Given the description of an element on the screen output the (x, y) to click on. 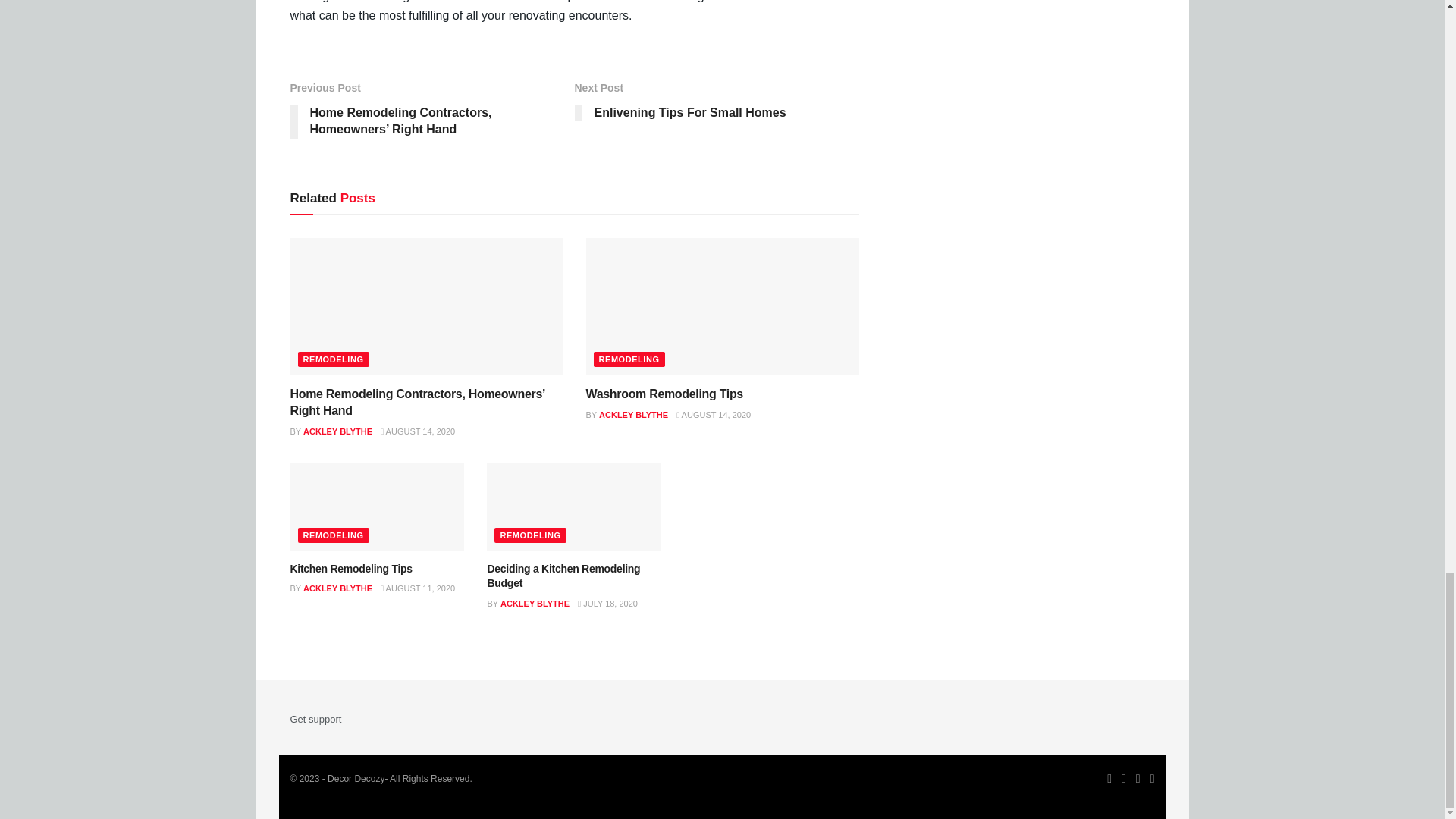
REMODELING (332, 359)
ACKLEY BLYTHE (337, 430)
